Given the description of an element on the screen output the (x, y) to click on. 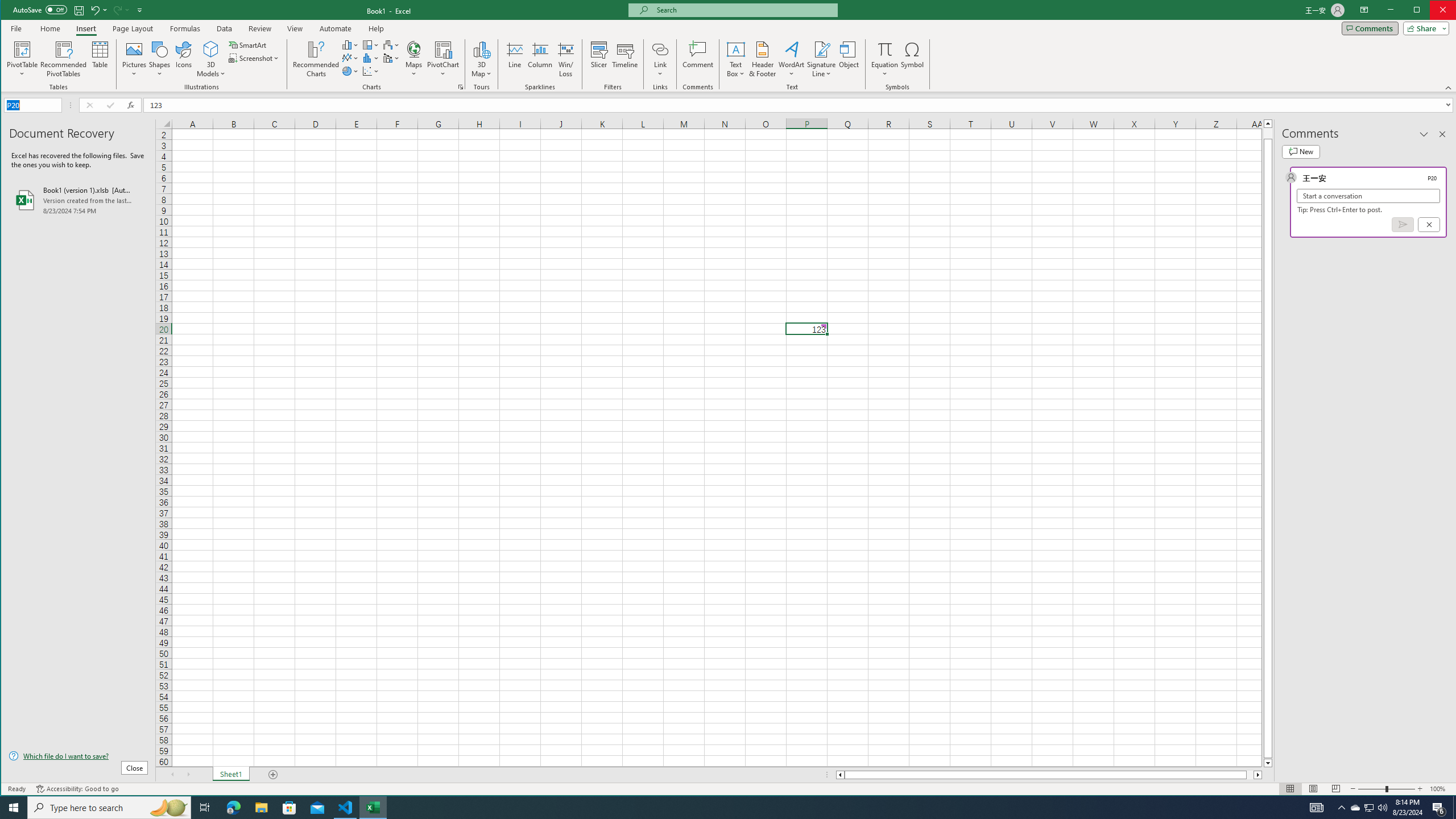
Shapes (159, 59)
File Explorer (261, 807)
Class: MsoCommandBar (728, 45)
Line (514, 59)
AutomationID: 4105 (1316, 807)
Draw Horizontal Text Box (735, 48)
SmartArt... (248, 44)
